Given the description of an element on the screen output the (x, y) to click on. 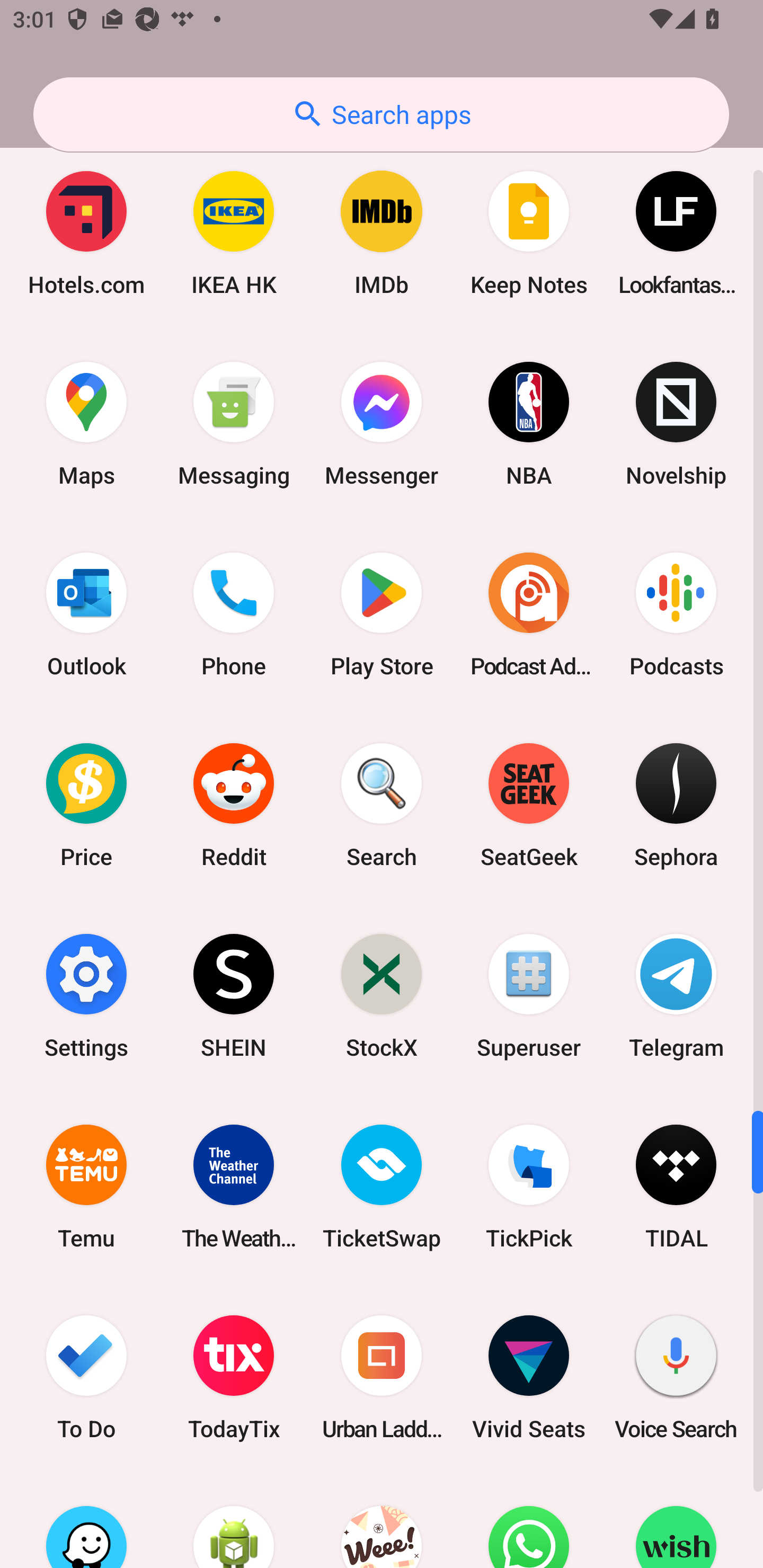
To Do (86, 1377)
